Given the description of an element on the screen output the (x, y) to click on. 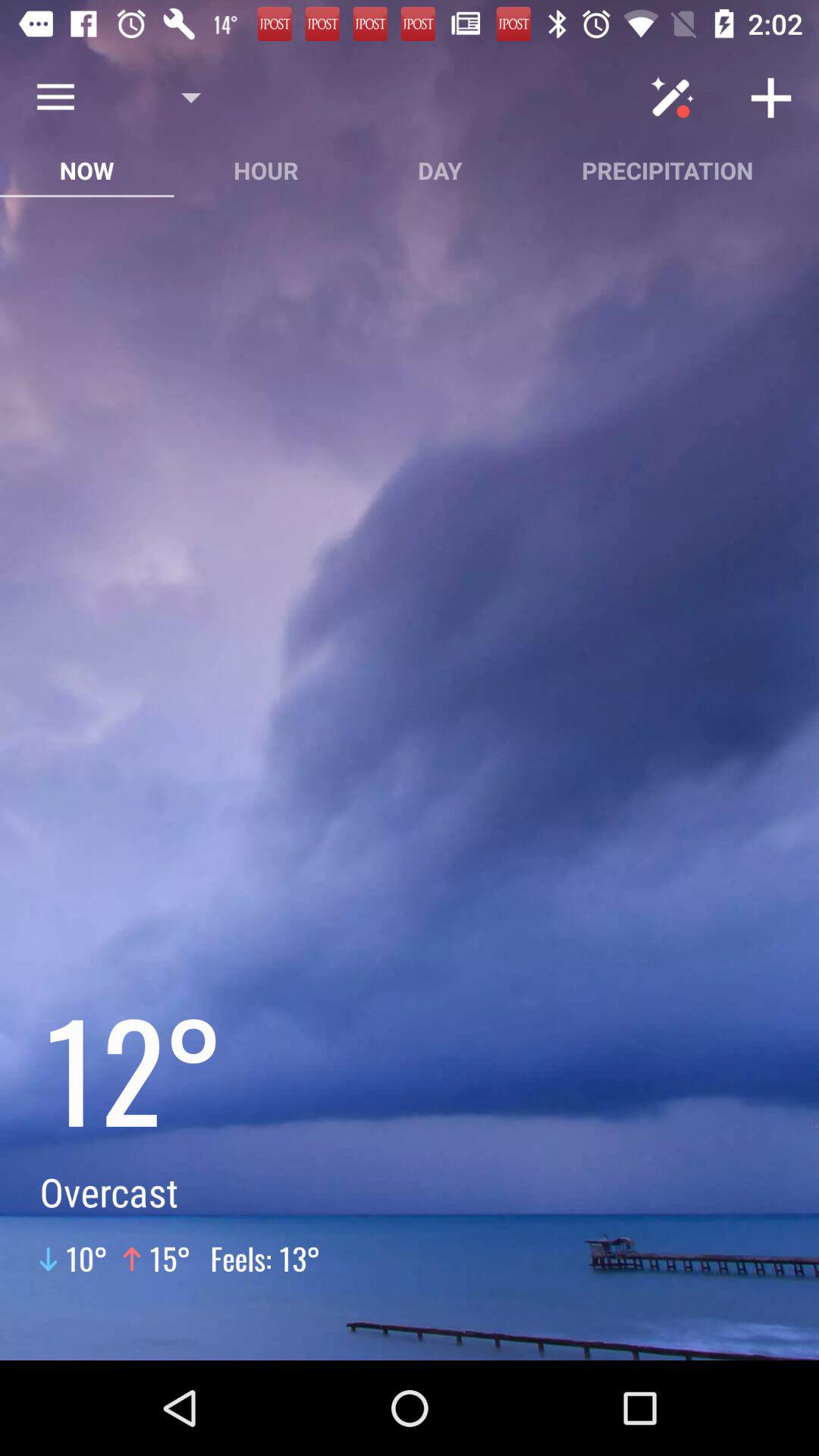
click on hour button between now and day (266, 170)
